Given the description of an element on the screen output the (x, y) to click on. 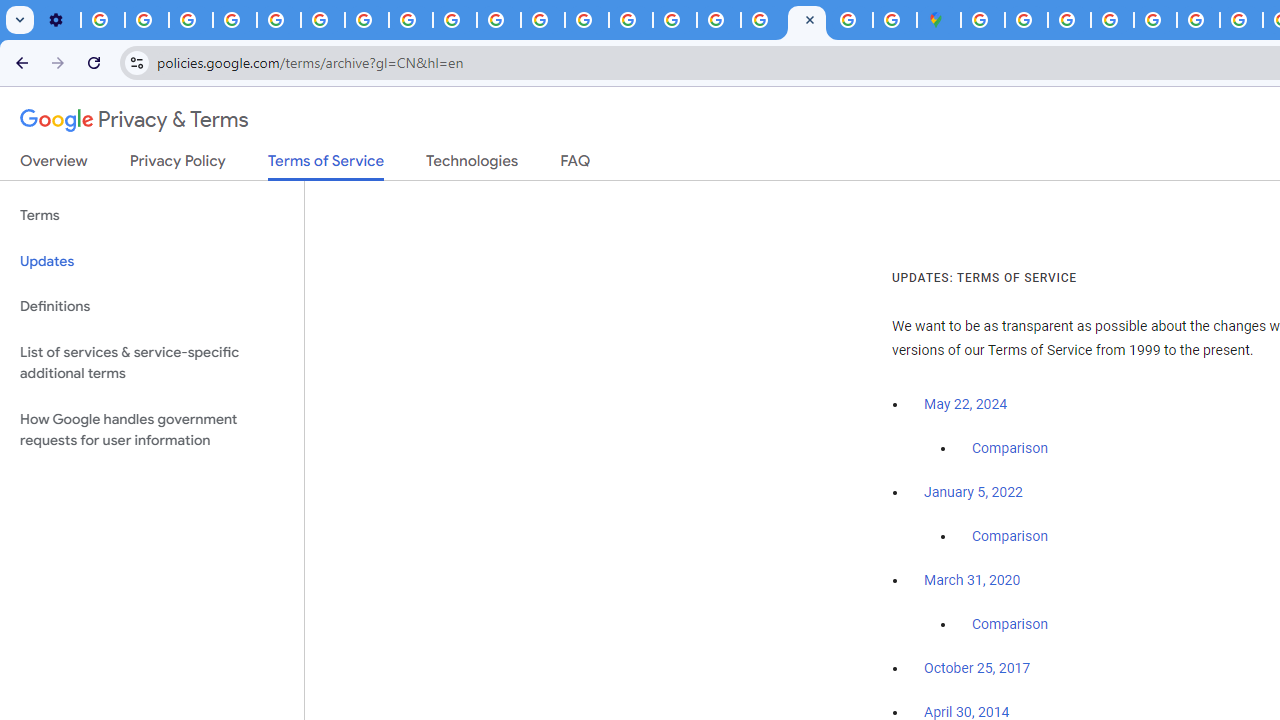
Privacy Help Center - Policies Help (1197, 20)
Comparison (1009, 625)
Google Maps (938, 20)
Privacy Help Center - Policies Help (586, 20)
How Google handles government requests for user information (152, 429)
